Given the description of an element on the screen output the (x, y) to click on. 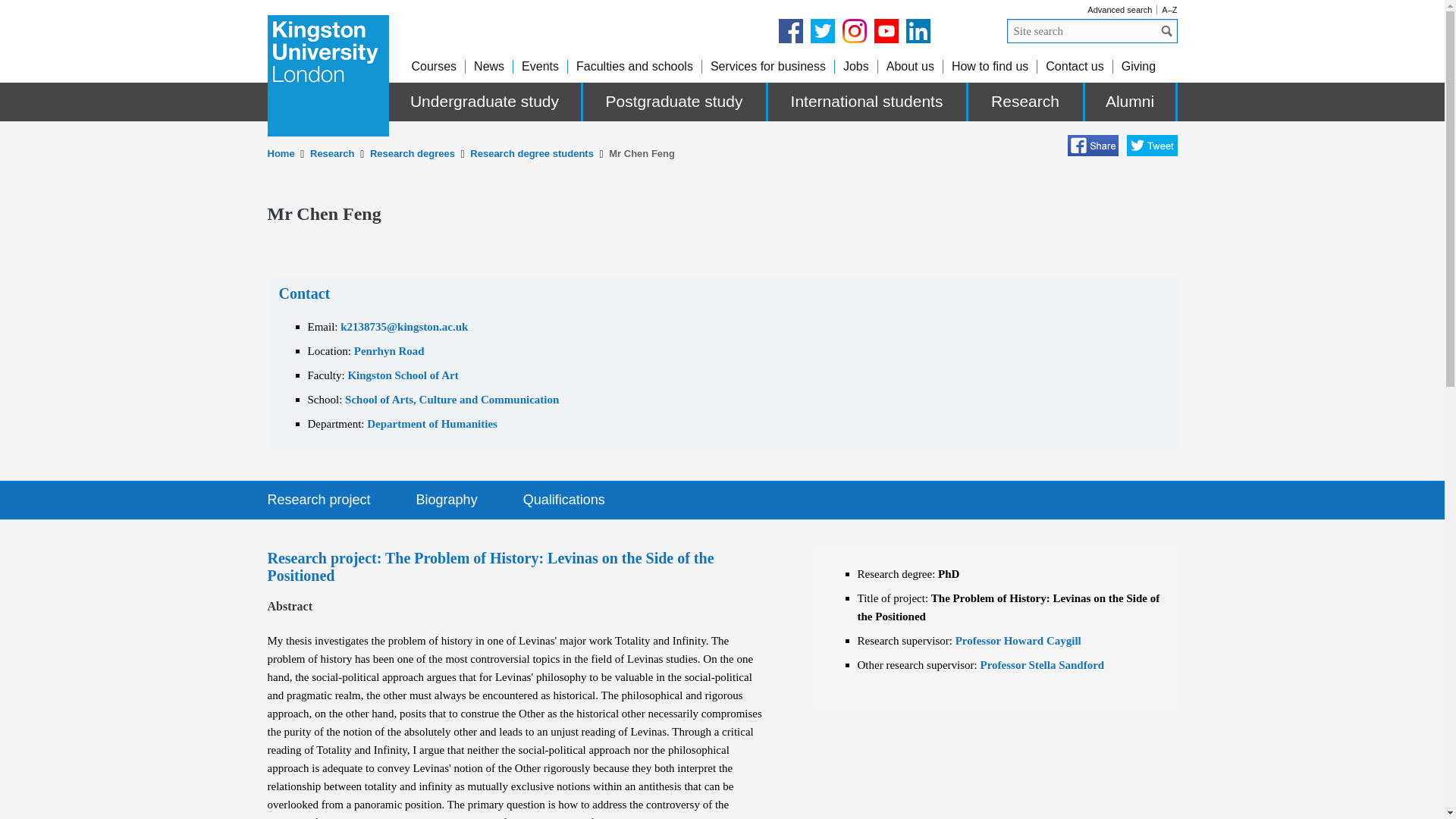
International students (867, 101)
Research project (318, 499)
Biography (446, 499)
Search (1166, 30)
Giving (1138, 65)
Courses (433, 65)
Instagram (853, 30)
Alumni (1130, 101)
About us (910, 65)
LinkedIn (917, 30)
YouTube (885, 30)
Events (540, 65)
Facebook (789, 30)
